Given the description of an element on the screen output the (x, y) to click on. 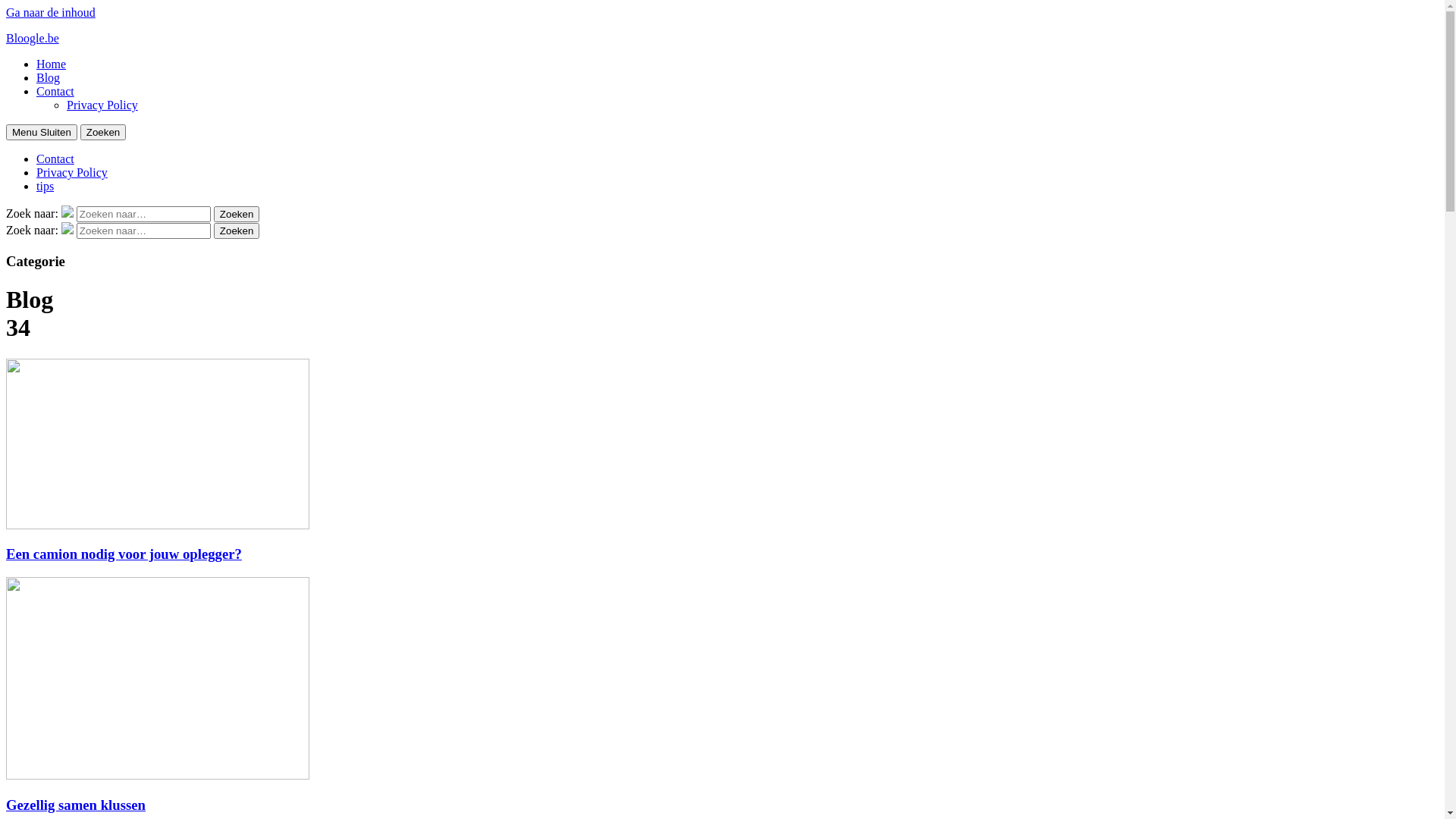
tips Element type: text (44, 185)
Gezellig samen klussen Element type: text (75, 804)
Een camion nodig voor jouw oplegger? Element type: text (123, 553)
Ga naar de inhoud Element type: text (50, 12)
Blog Element type: text (47, 77)
Zoeken Element type: text (102, 132)
Bloogle.be Element type: text (32, 37)
Zoeken Element type: text (236, 214)
Zoeken Element type: text (236, 230)
Contact Element type: text (55, 158)
Privacy Policy Element type: text (71, 172)
Contact Element type: text (55, 90)
Privacy Policy Element type: text (102, 104)
Home Element type: text (50, 63)
Menu Sluiten Element type: text (41, 132)
